Given the description of an element on the screen output the (x, y) to click on. 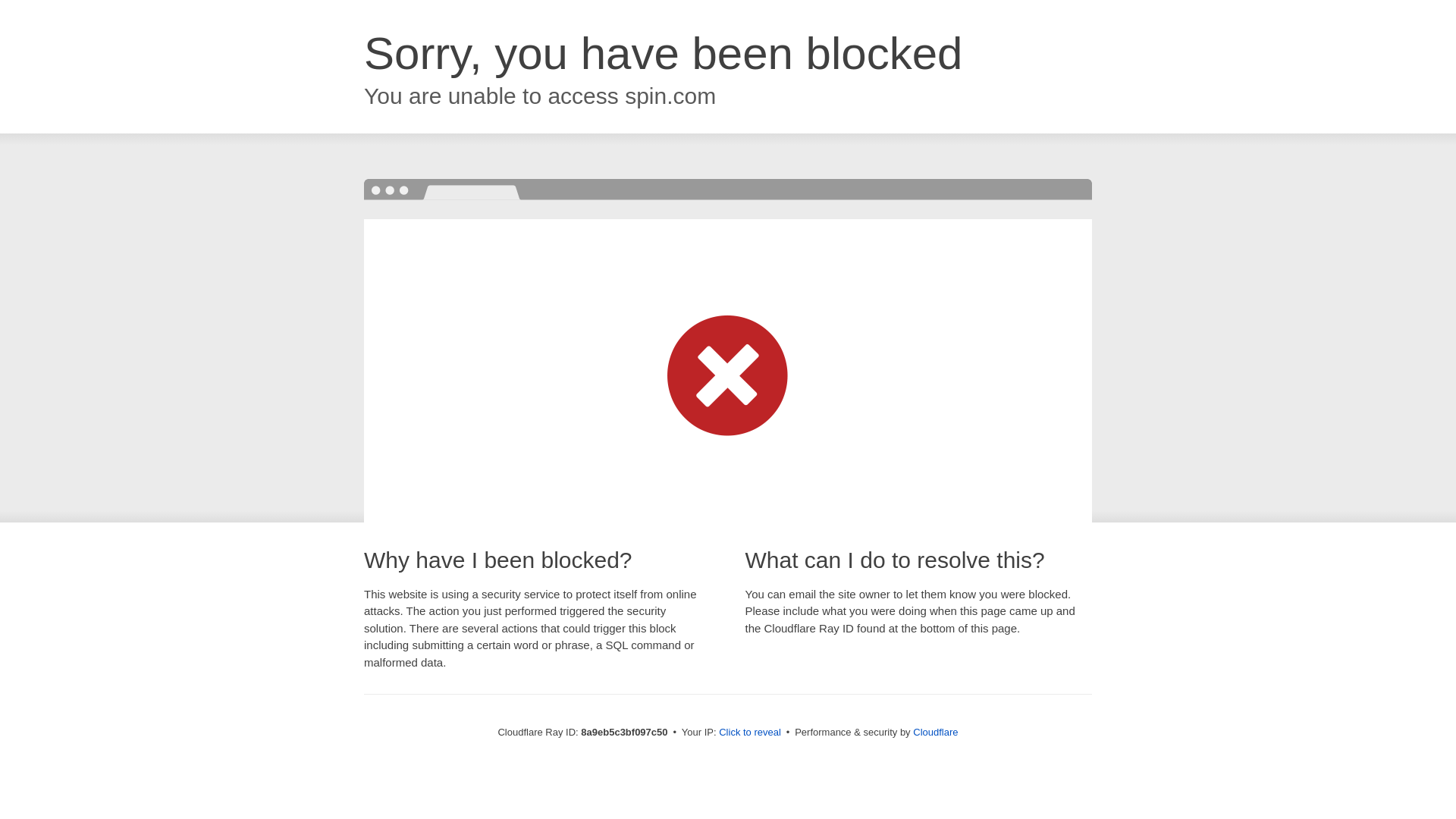
Cloudflare (935, 731)
Click to reveal (749, 732)
